Given the description of an element on the screen output the (x, y) to click on. 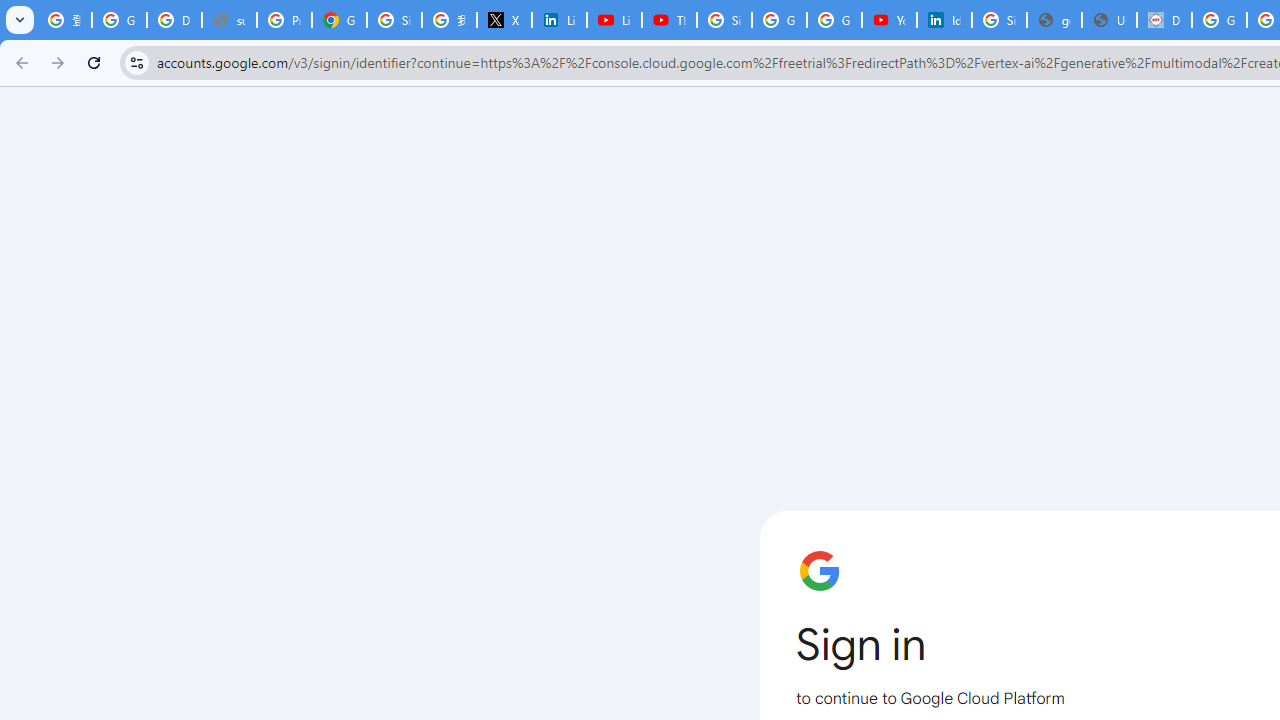
LinkedIn Privacy Policy (559, 20)
Data Privacy Framework (1163, 20)
google_privacy_policy_en.pdf (1053, 20)
Sign in - Google Accounts (394, 20)
X (504, 20)
Sign in - Google Accounts (998, 20)
User Details (1108, 20)
